Given the description of an element on the screen output the (x, y) to click on. 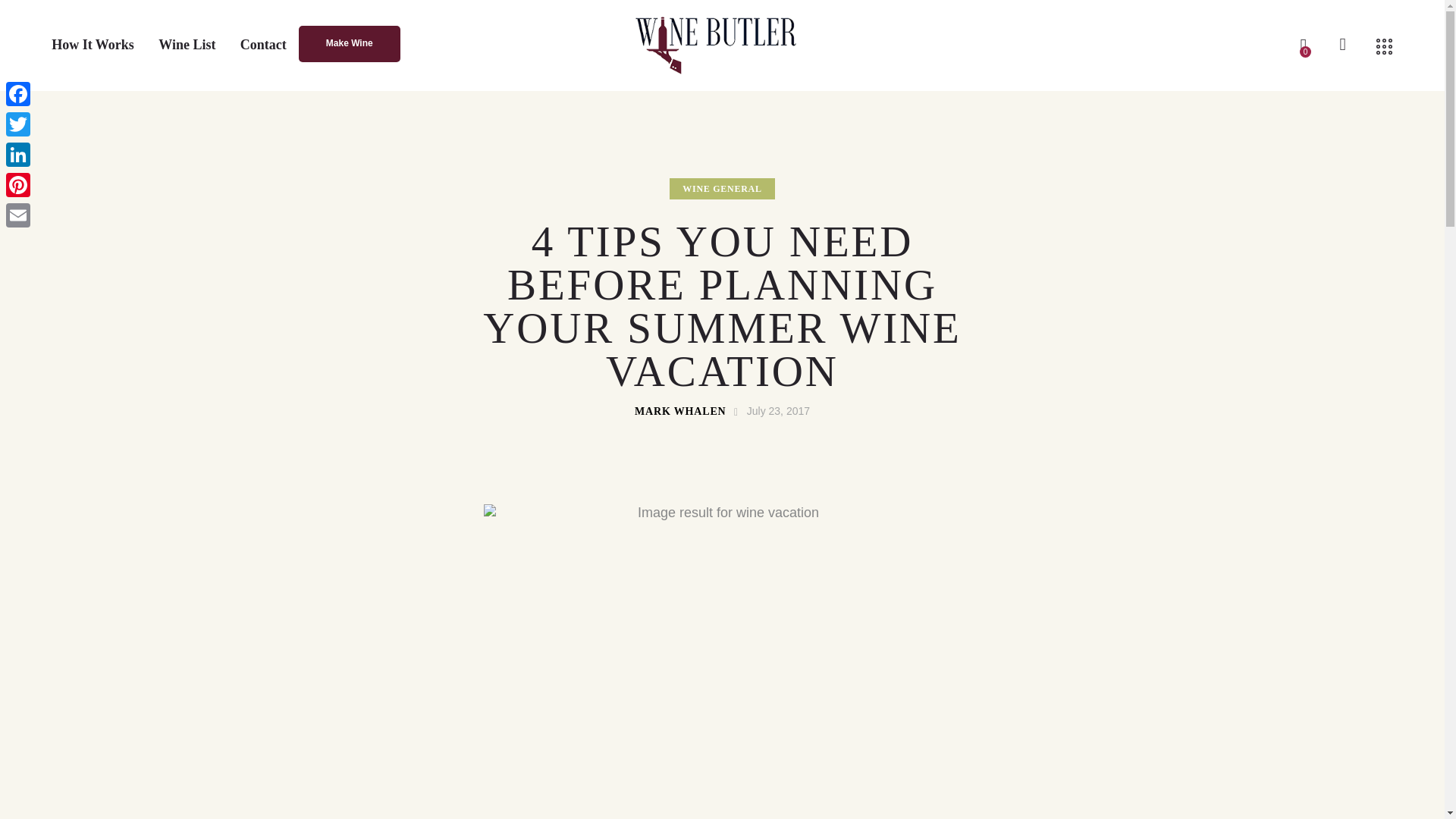
Wine List (187, 44)
How It Works (93, 44)
Twitter (17, 123)
Contact (263, 44)
MARK WHALEN (689, 411)
Pinterest (17, 184)
Facebook (17, 93)
LinkedIn (17, 154)
Email (17, 214)
Make Wine (349, 44)
WINE GENERAL (721, 188)
